Given the description of an element on the screen output the (x, y) to click on. 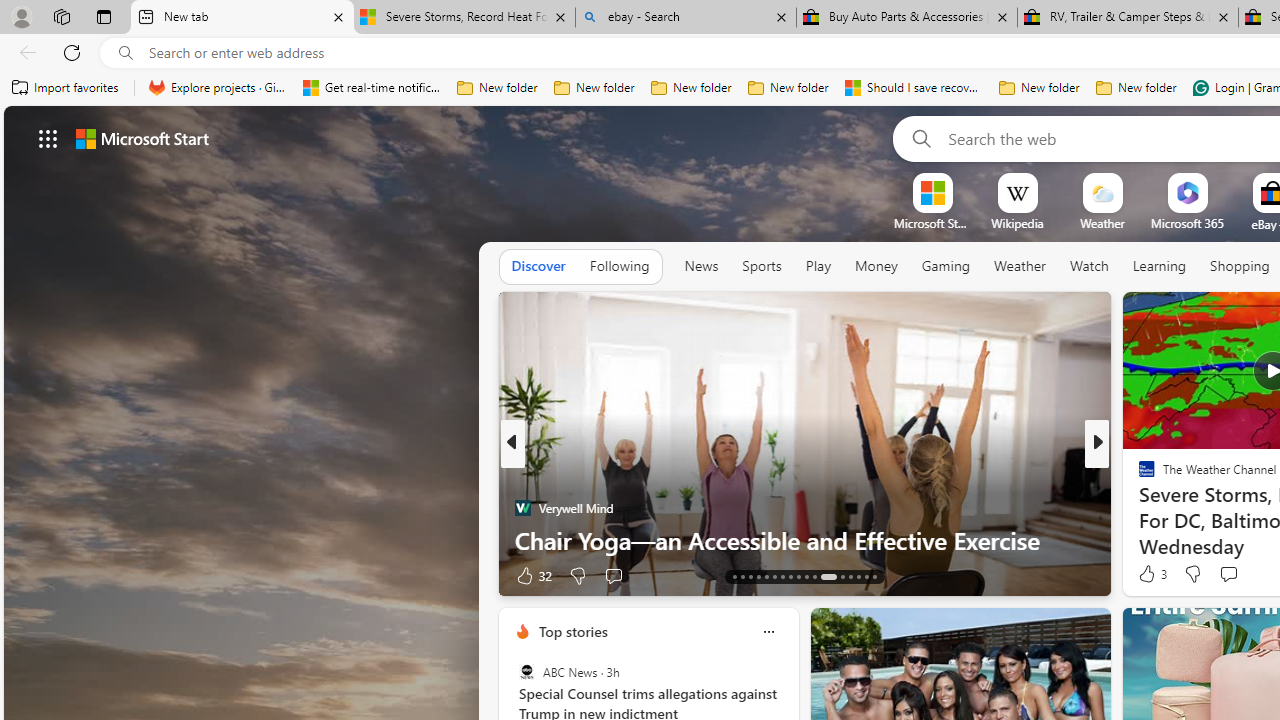
353 Like (1151, 574)
More Options (1219, 179)
App launcher (47, 138)
AutomationID: tab-22 (806, 576)
AutomationID: tab-14 (742, 576)
Learning (1159, 267)
MUO (1138, 507)
RV, Trailer & Camper Steps & Ladders for sale | eBay (1127, 17)
Should I save recovered Word documents? - Microsoft Support (913, 88)
